Given the description of an element on the screen output the (x, y) to click on. 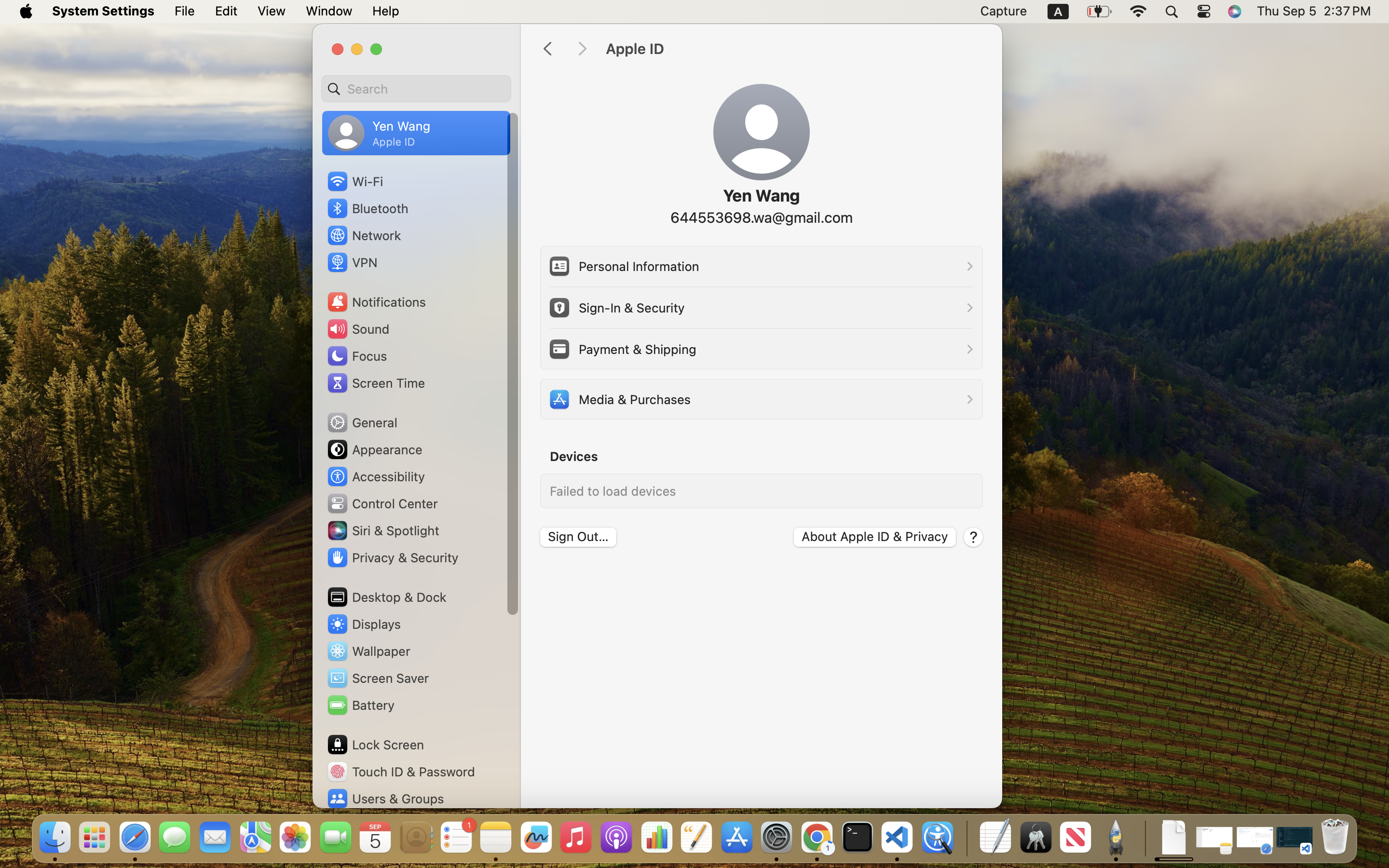
Focus Element type: AXStaticText (356, 355)
Lock Screen Element type: AXStaticText (375, 744)
644553698.wa@gmail.com Element type: AXStaticText (760, 217)
